Given the description of an element on the screen output the (x, y) to click on. 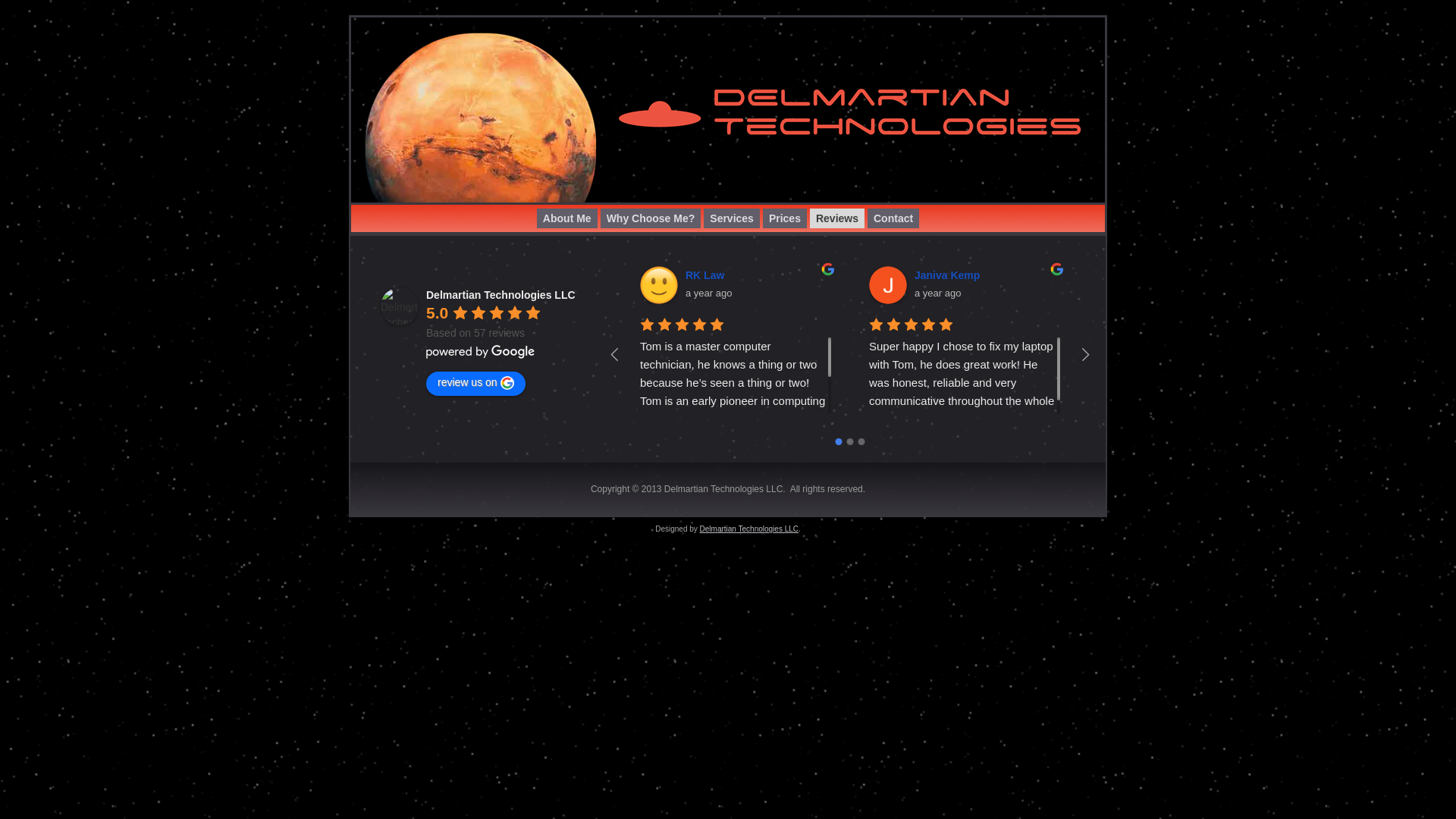
Reviews (836, 218)
powered by Google (480, 351)
Prices (784, 218)
Contact (892, 218)
Services (731, 218)
RK Law (659, 284)
Janiva Kemp (949, 275)
Vincenza Freeborn (1192, 275)
Delmartian Technologies LLC (748, 528)
Janiva Kemp (888, 284)
